Given the description of an element on the screen output the (x, y) to click on. 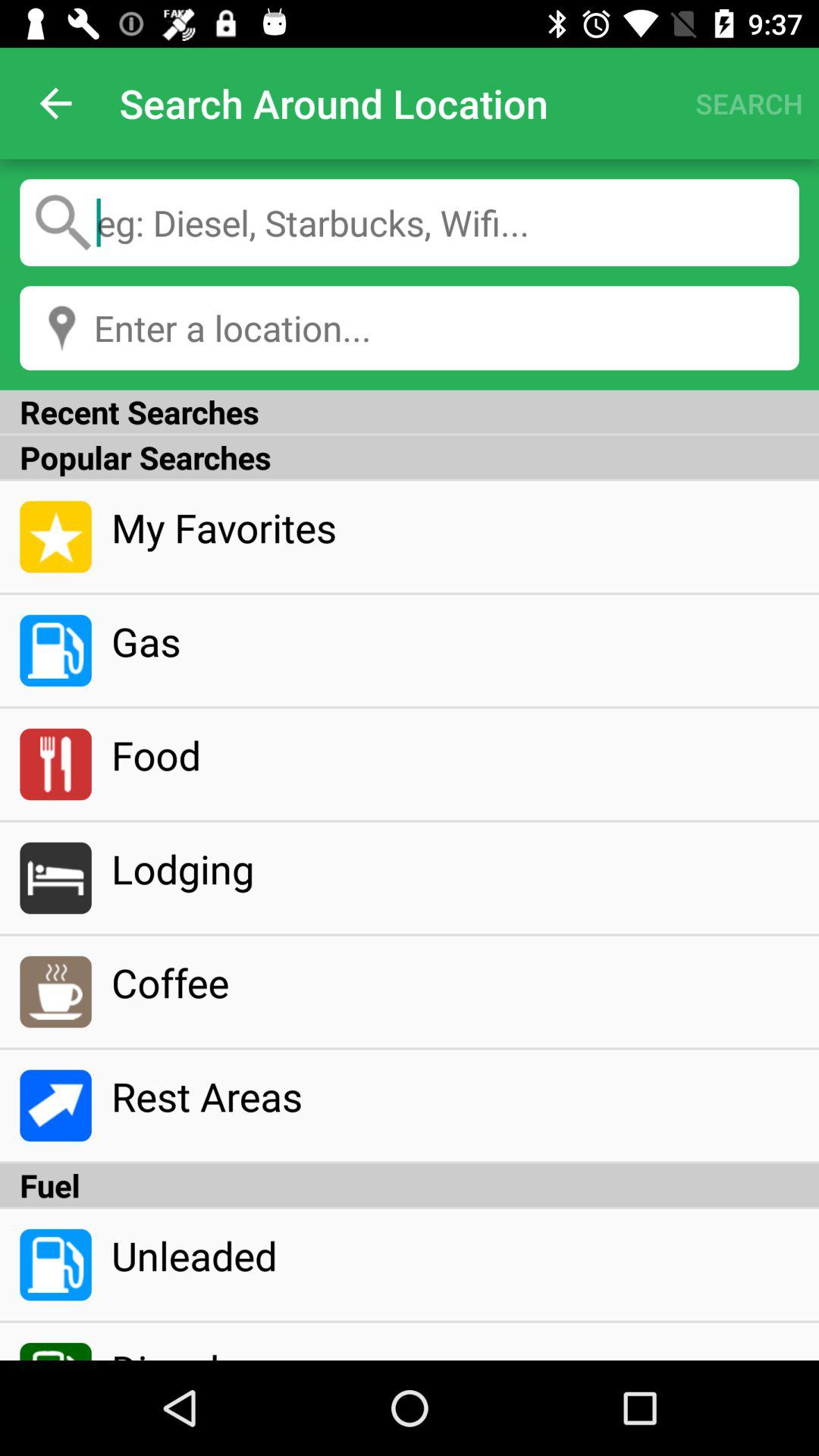
launch the icon above the my favorites icon (409, 456)
